Given the description of an element on the screen output the (x, y) to click on. 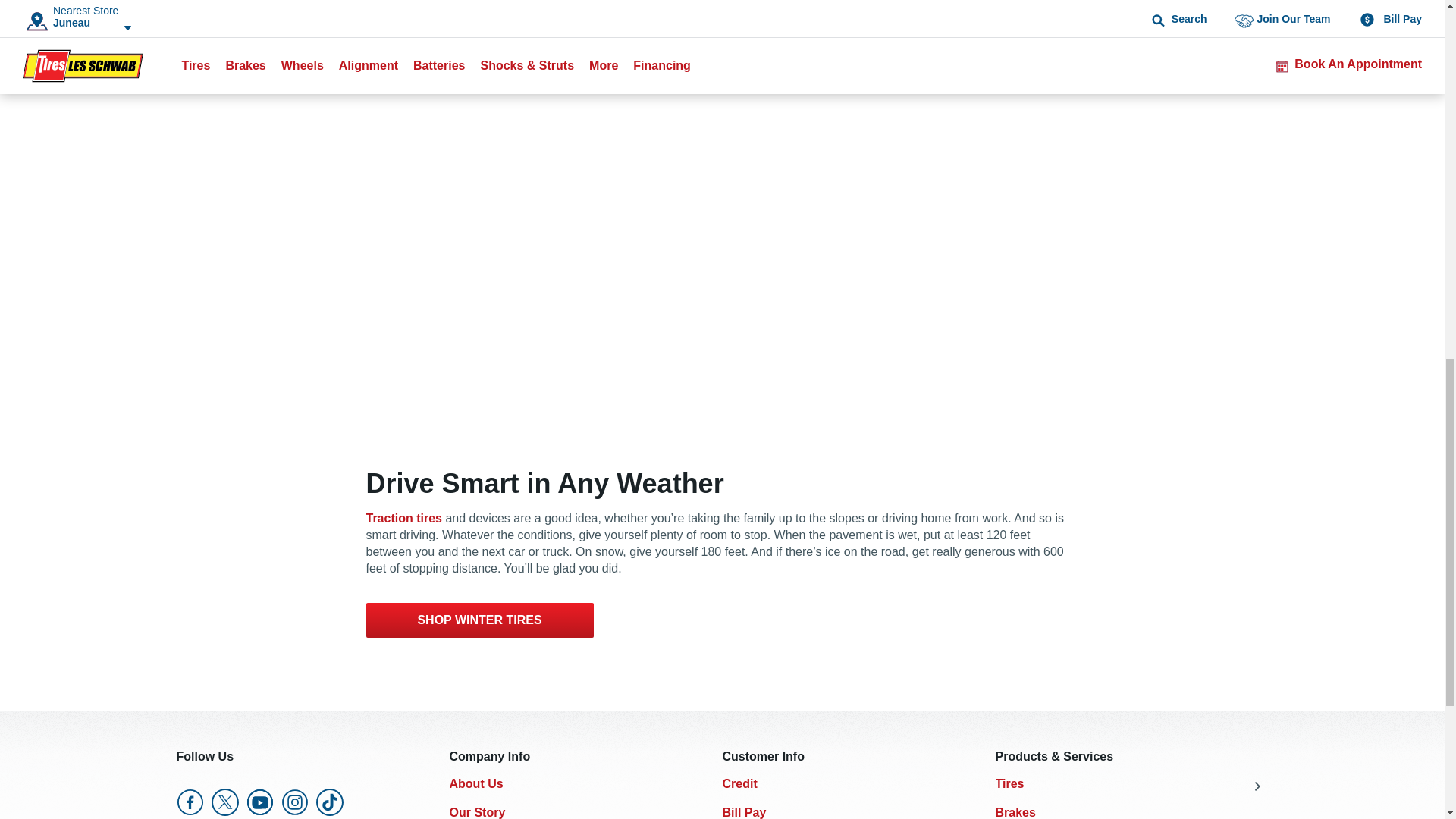
Go to View Our Vehicle Directory (478, 620)
Go to Instagram (294, 801)
Go to About Us (475, 783)
Go to YouTube (259, 801)
Go to Facebook (189, 801)
Go to TikTok (328, 801)
Go to Our Story (476, 812)
Go to X (224, 801)
